Given the description of an element on the screen output the (x, y) to click on. 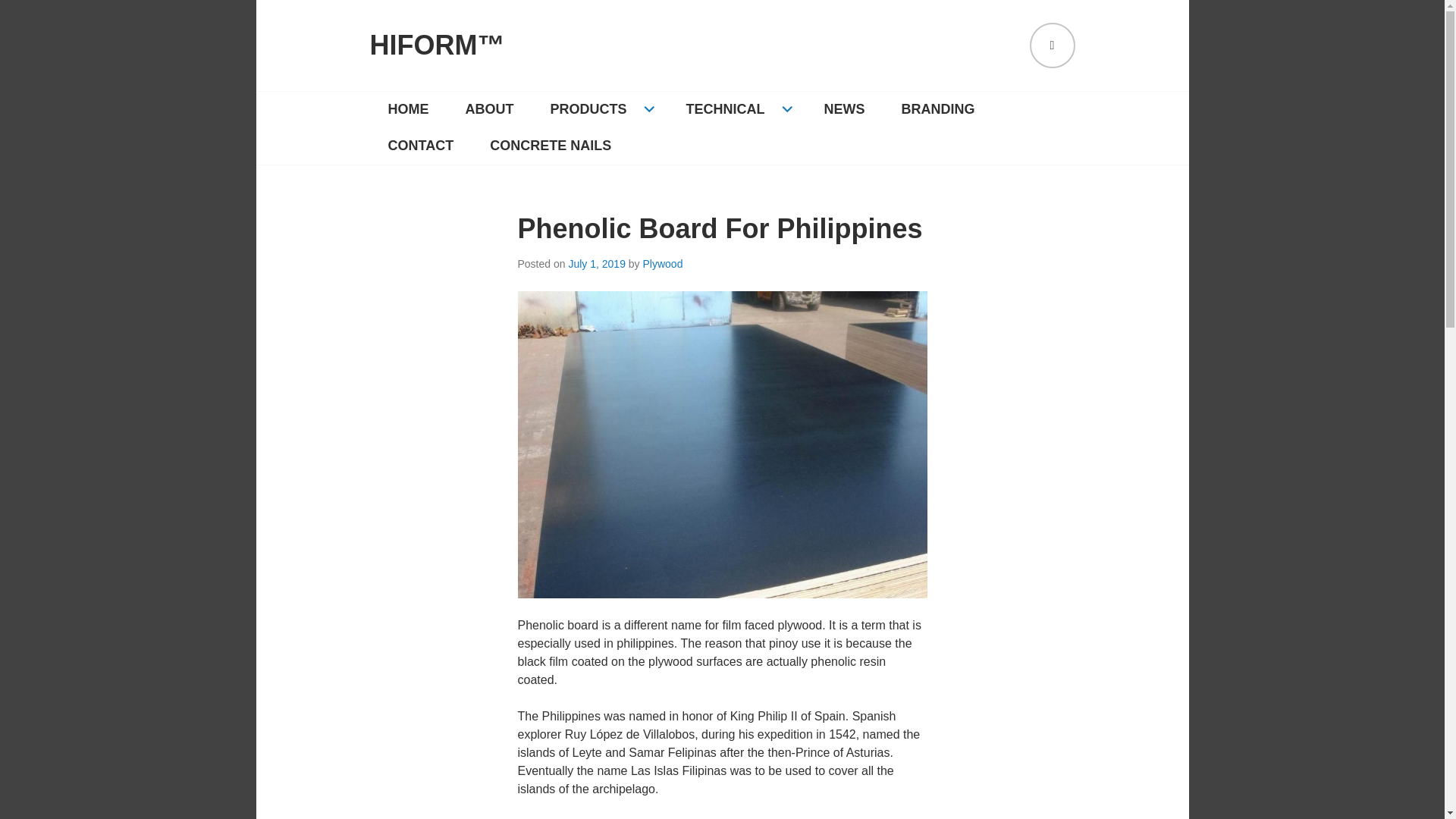
July 1, 2019 (596, 263)
Plywood (662, 263)
NEWS (844, 109)
CONCRETE NAILS (549, 145)
SEARCH (1052, 44)
BRANDING (937, 109)
PRODUCTS (600, 109)
ABOUT (489, 109)
TECHNICAL (737, 109)
HOME (407, 109)
CONTACT (420, 145)
